Given the description of an element on the screen output the (x, y) to click on. 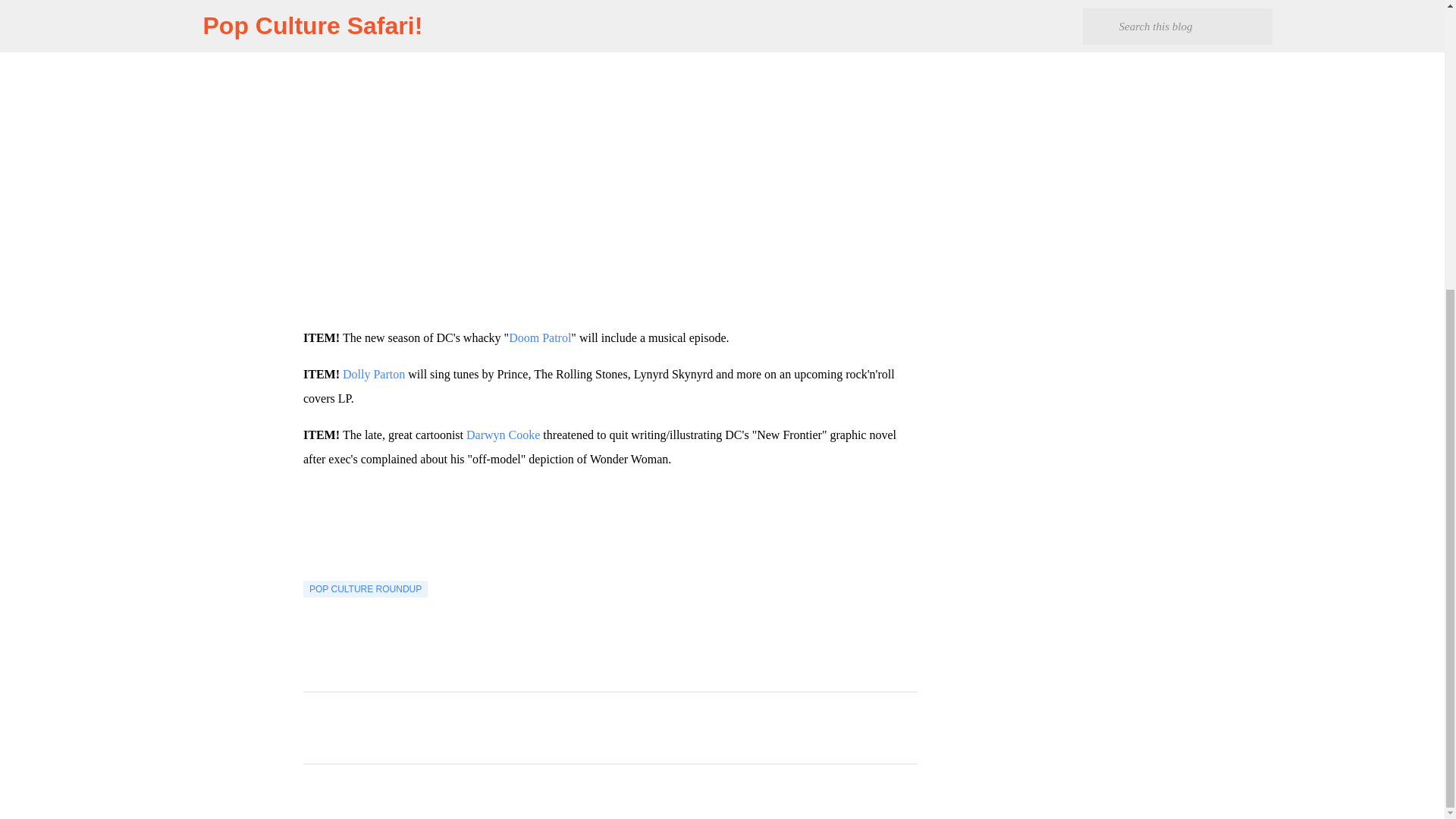
POP CULTURE ROUNDUP (365, 588)
Doom Patrol (539, 337)
Dolly Parton (373, 373)
Darwyn Cooke (502, 434)
Email Post (311, 571)
